Given the description of an element on the screen output the (x, y) to click on. 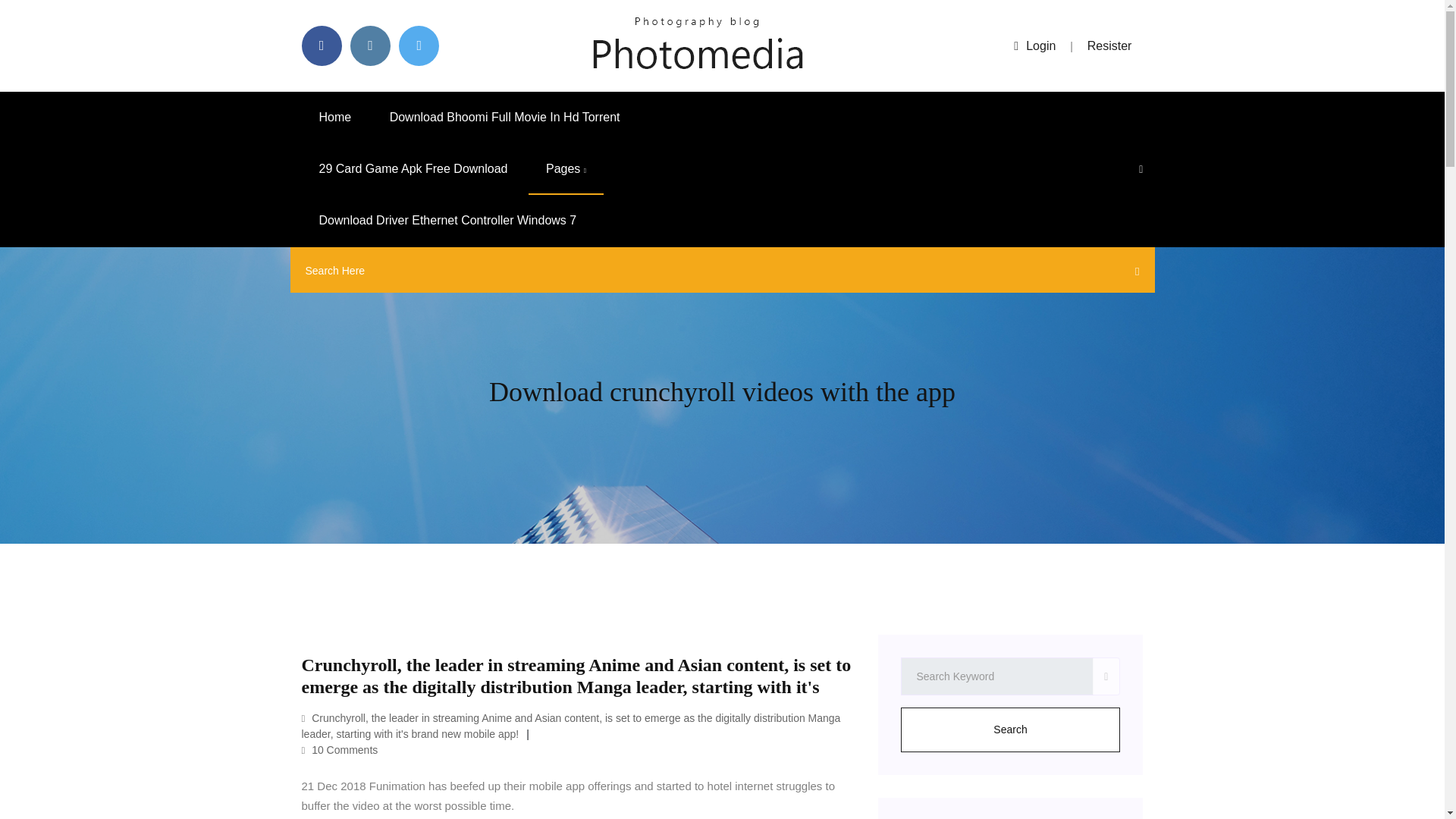
29 Card Game Apk Free Download (413, 168)
10 Comments (339, 749)
Download Bhoomi Full Movie In Hd Torrent (504, 117)
Home (335, 117)
Pages (566, 168)
Resister (1109, 45)
Download Driver Ethernet Controller Windows 7 (447, 220)
Login (1034, 45)
